Given the description of an element on the screen output the (x, y) to click on. 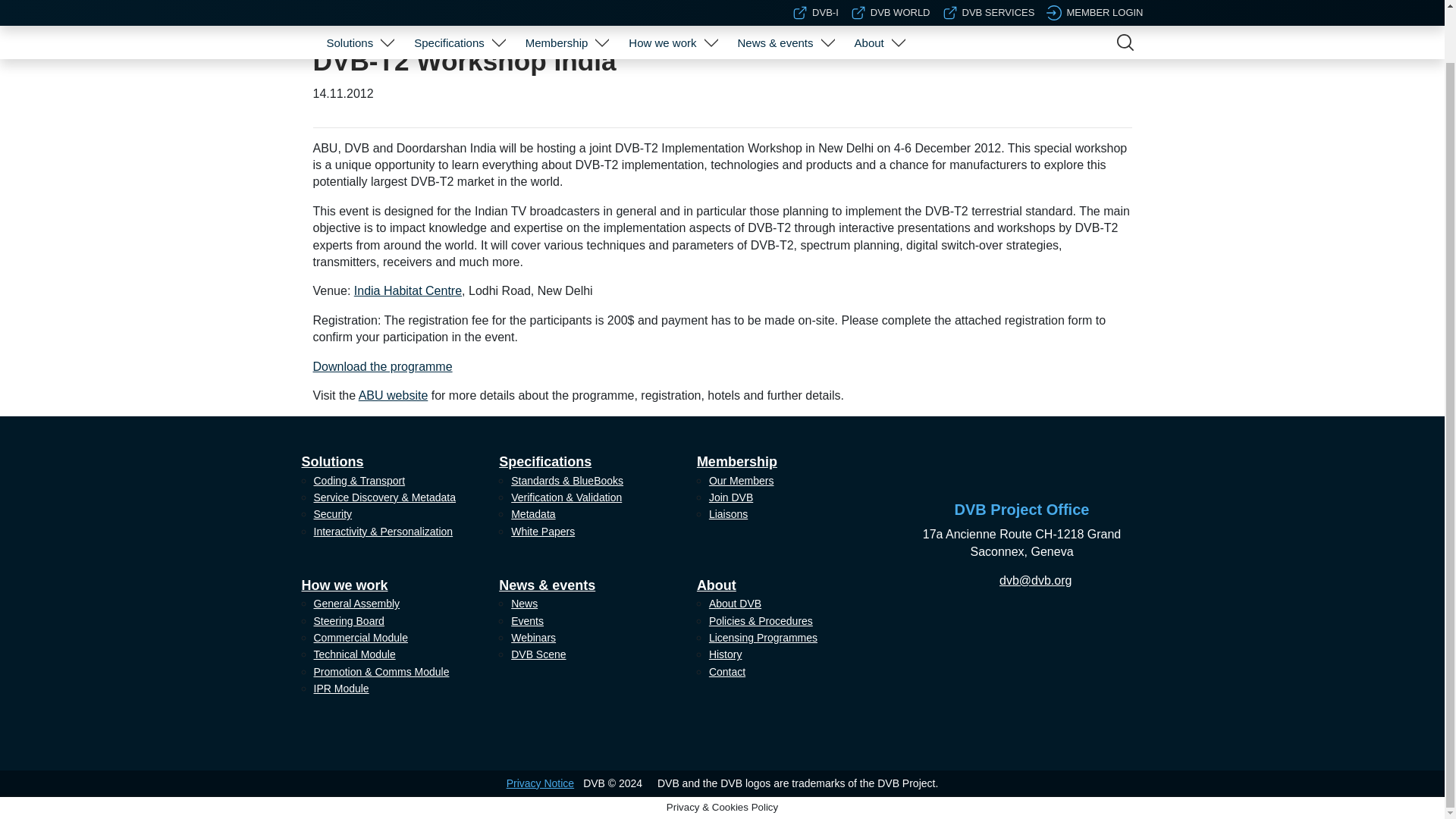
Solutions (349, 1)
About (868, 1)
News (783, 22)
About DVB (877, 22)
How we work (662, 1)
Specifications (448, 1)
Our Members (564, 22)
Membership (556, 1)
General Assembly (670, 22)
